Given the description of an element on the screen output the (x, y) to click on. 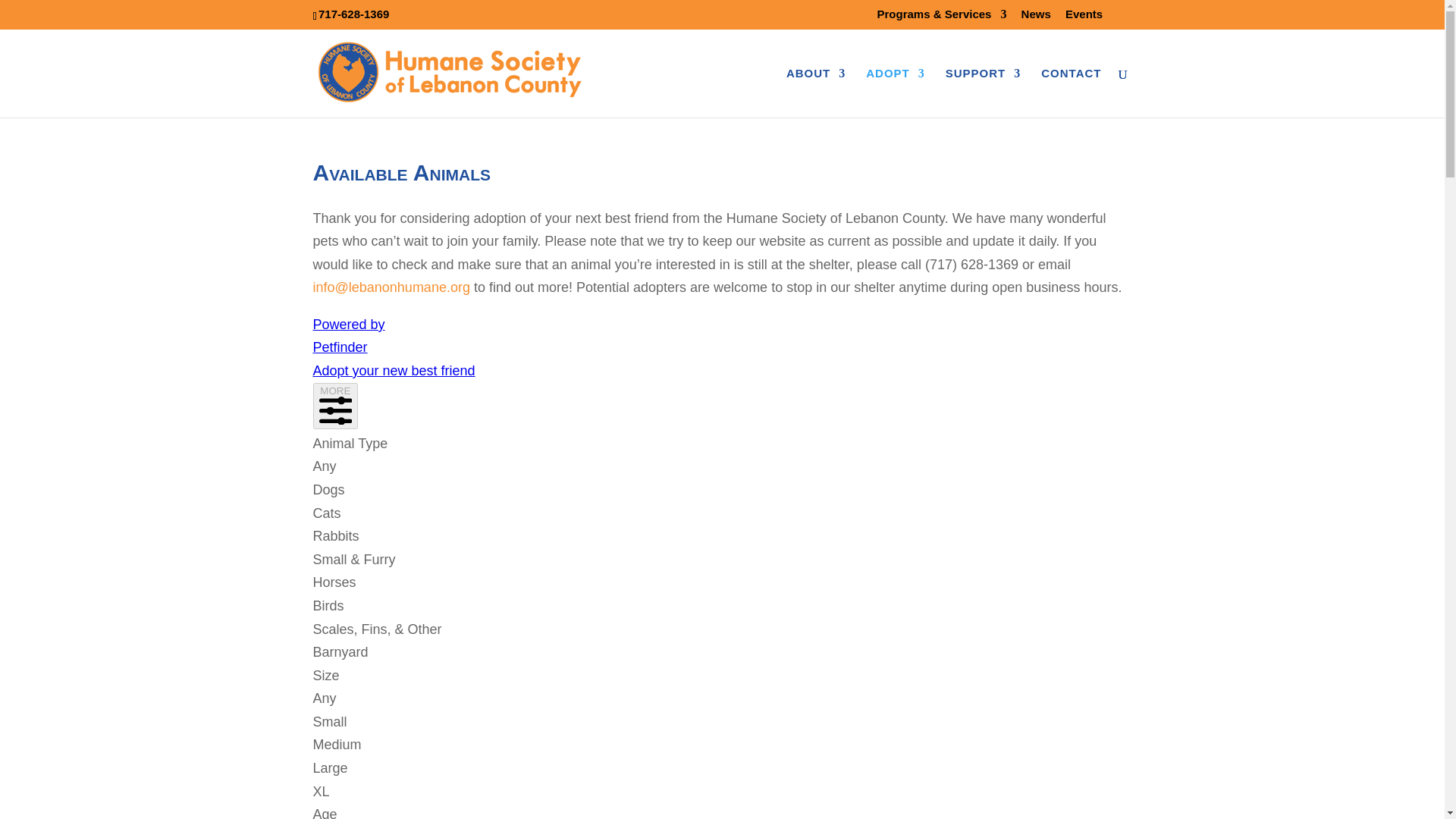
SUPPORT (983, 92)
ABOUT (815, 92)
News (1036, 17)
ADOPT (895, 92)
CONTACT (1070, 92)
Events (1083, 17)
717-628-1369 (353, 13)
